Given the description of an element on the screen output the (x, y) to click on. 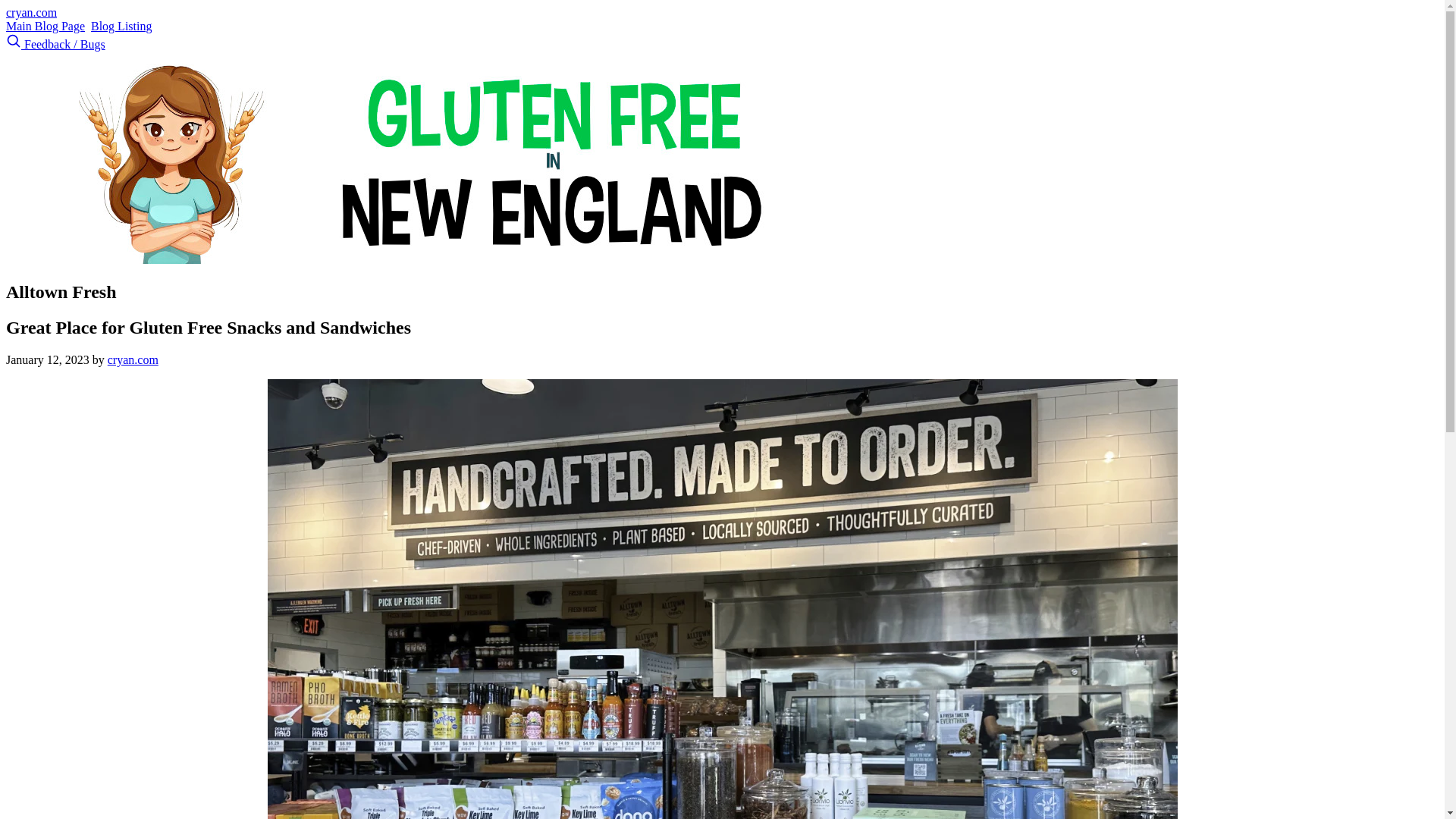
cryan.com (132, 359)
Search (13, 40)
Blog Listing (120, 25)
cryan.com (30, 11)
Main Blog Page (44, 25)
Search (14, 43)
